Given the description of an element on the screen output the (x, y) to click on. 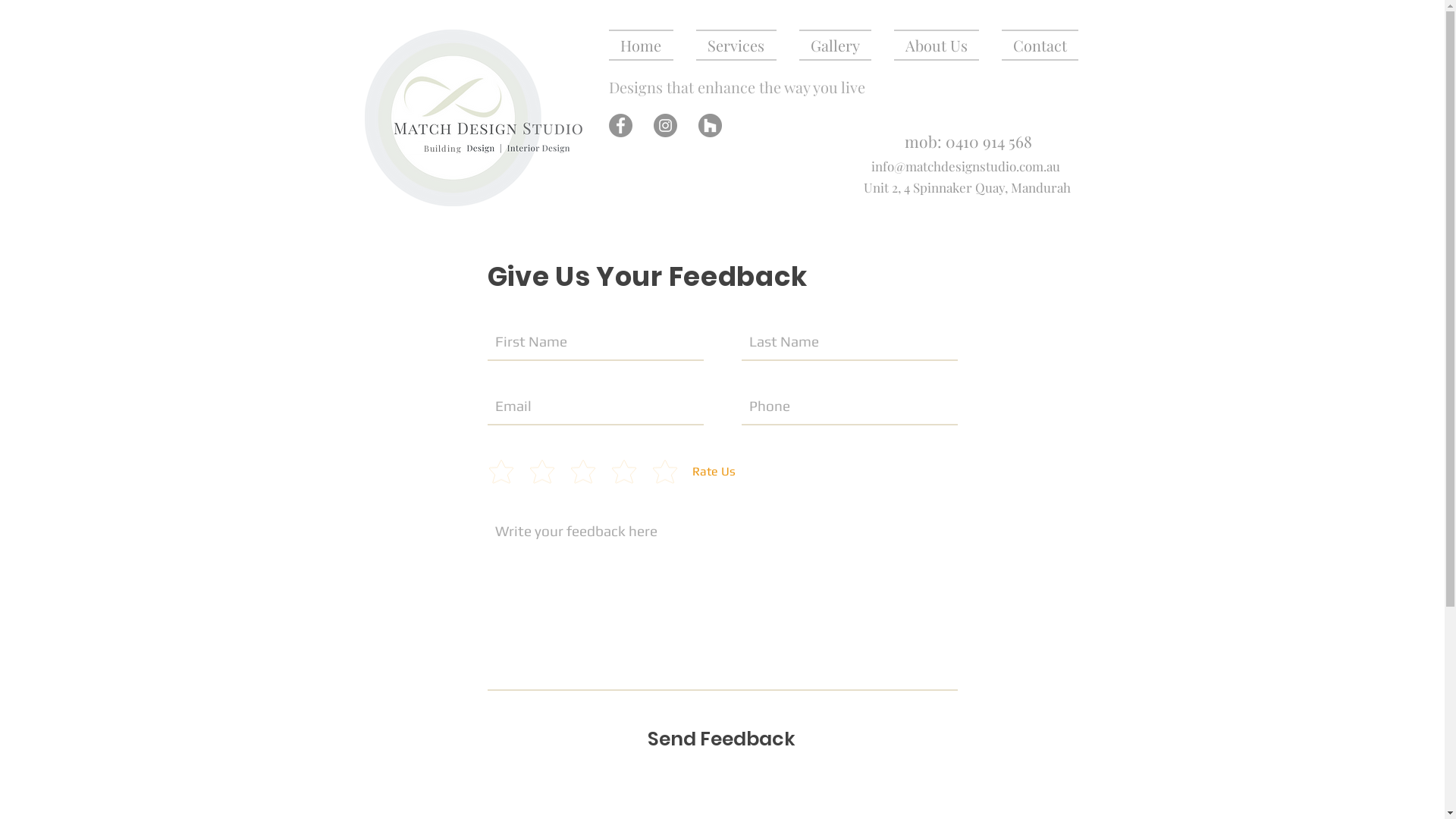
Gallery Element type: text (834, 44)
Services Element type: text (735, 44)
Send Feedback Element type: text (721, 738)
info@matchdesignstudio.com.au Element type: text (964, 165)
About Us Element type: text (936, 44)
Contact Element type: text (1034, 44)
mob: 0410 914 568 Element type: text (967, 140)
Home Element type: text (646, 44)
Building Element type: text (442, 147)
